Given the description of an element on the screen output the (x, y) to click on. 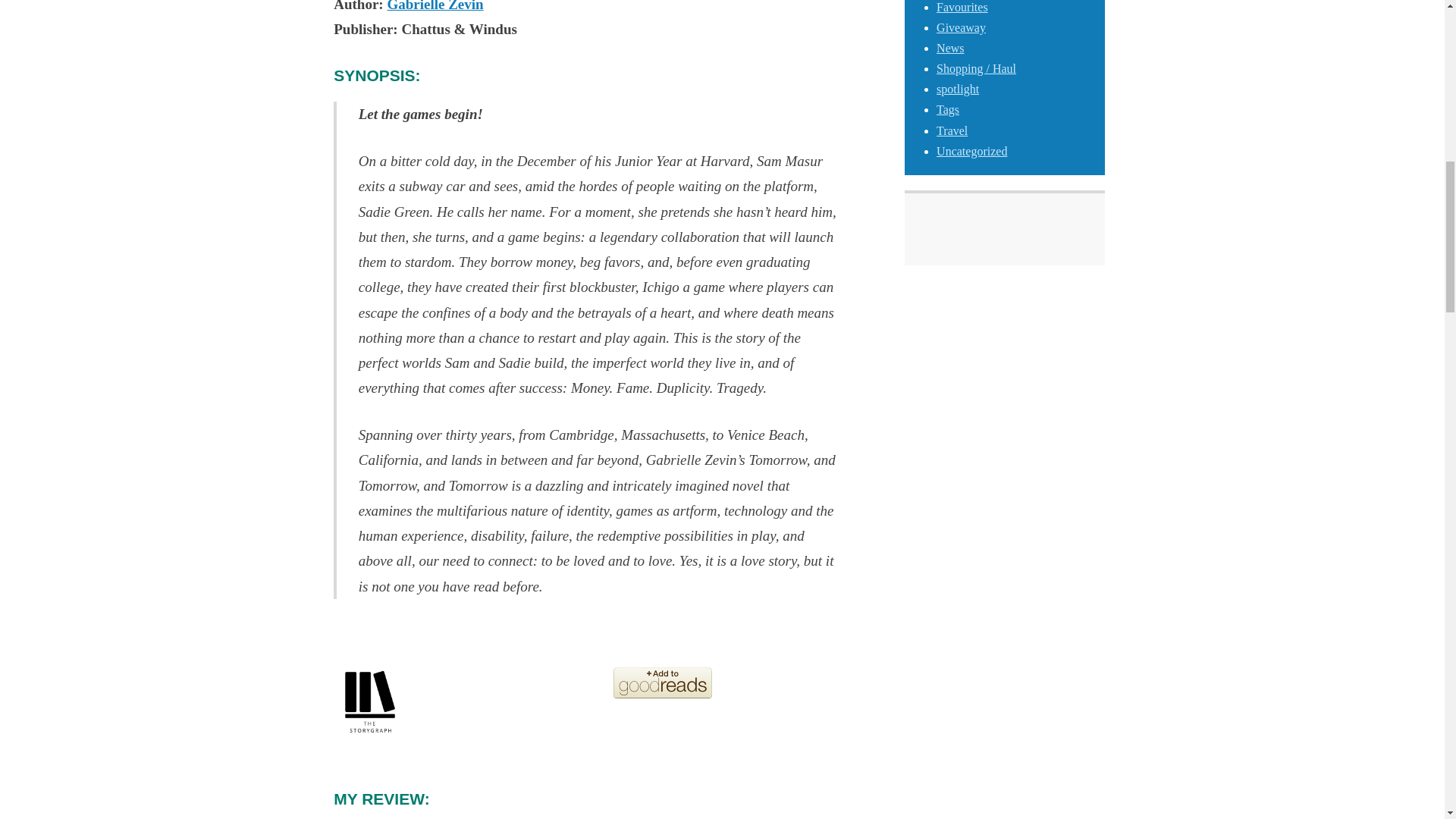
Follow Button (1004, 235)
Gabrielle Zevin (435, 6)
